Given the description of an element on the screen output the (x, y) to click on. 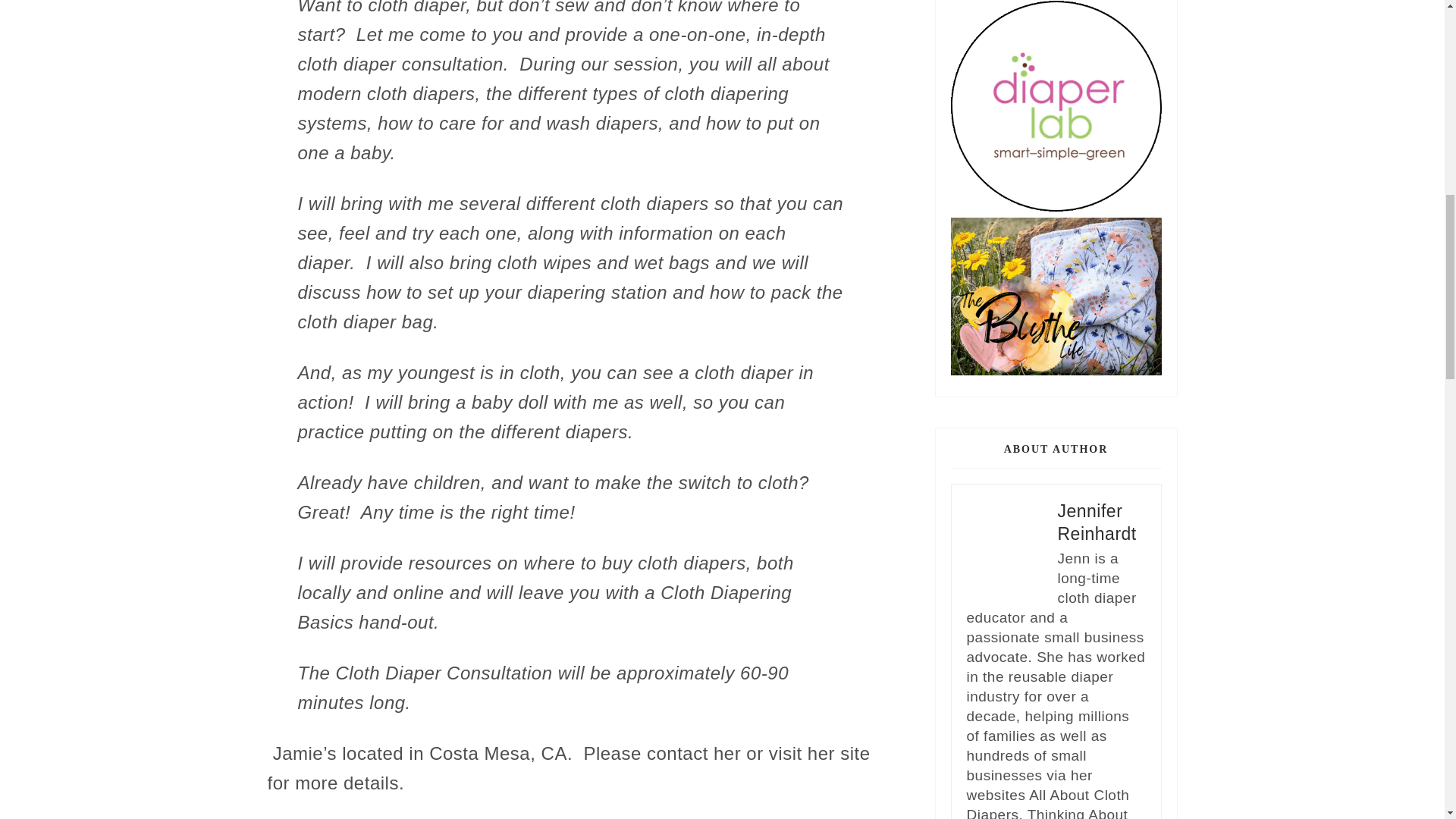
Jennifer Reinhardt (1096, 522)
